Given the description of an element on the screen output the (x, y) to click on. 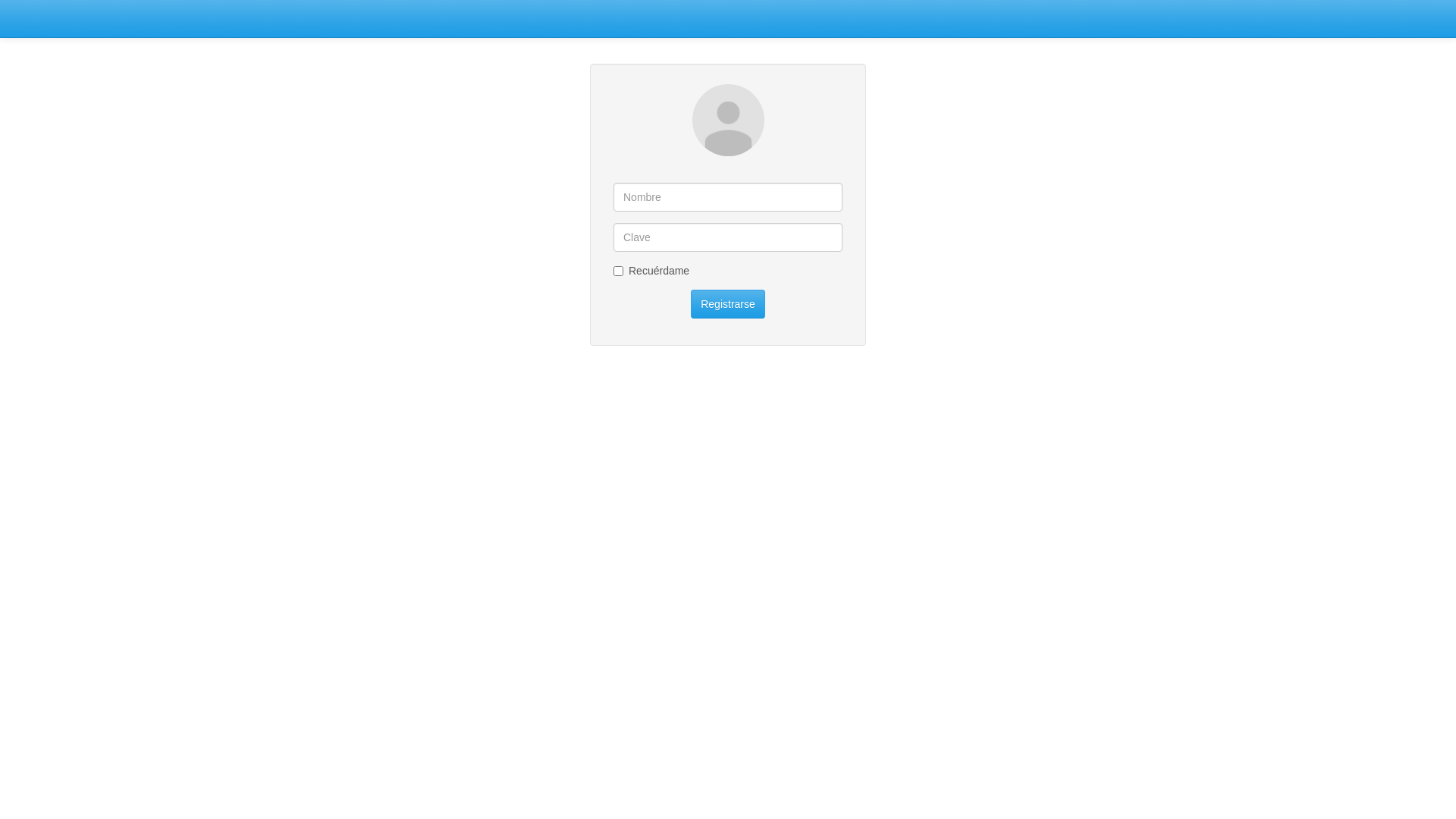
Registrarse Element type: text (727, 303)
